Given the description of an element on the screen output the (x, y) to click on. 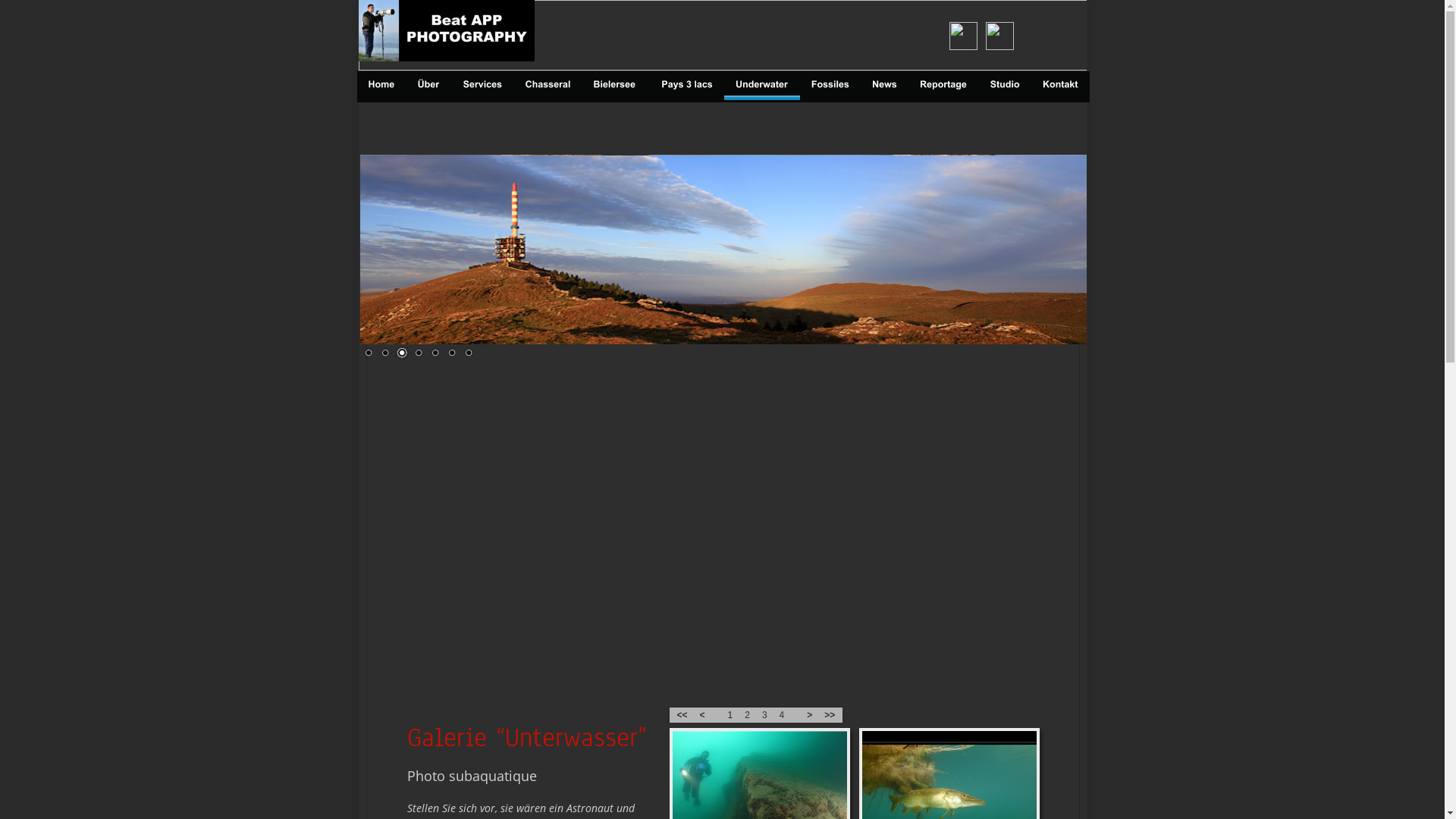
2 Element type: text (384, 352)
1 Element type: text (367, 352)
6 Element type: text (450, 352)
4 Element type: text (417, 352)
3 Element type: text (400, 352)
7 Element type: text (467, 352)
5 Element type: text (434, 352)
